Given the description of an element on the screen output the (x, y) to click on. 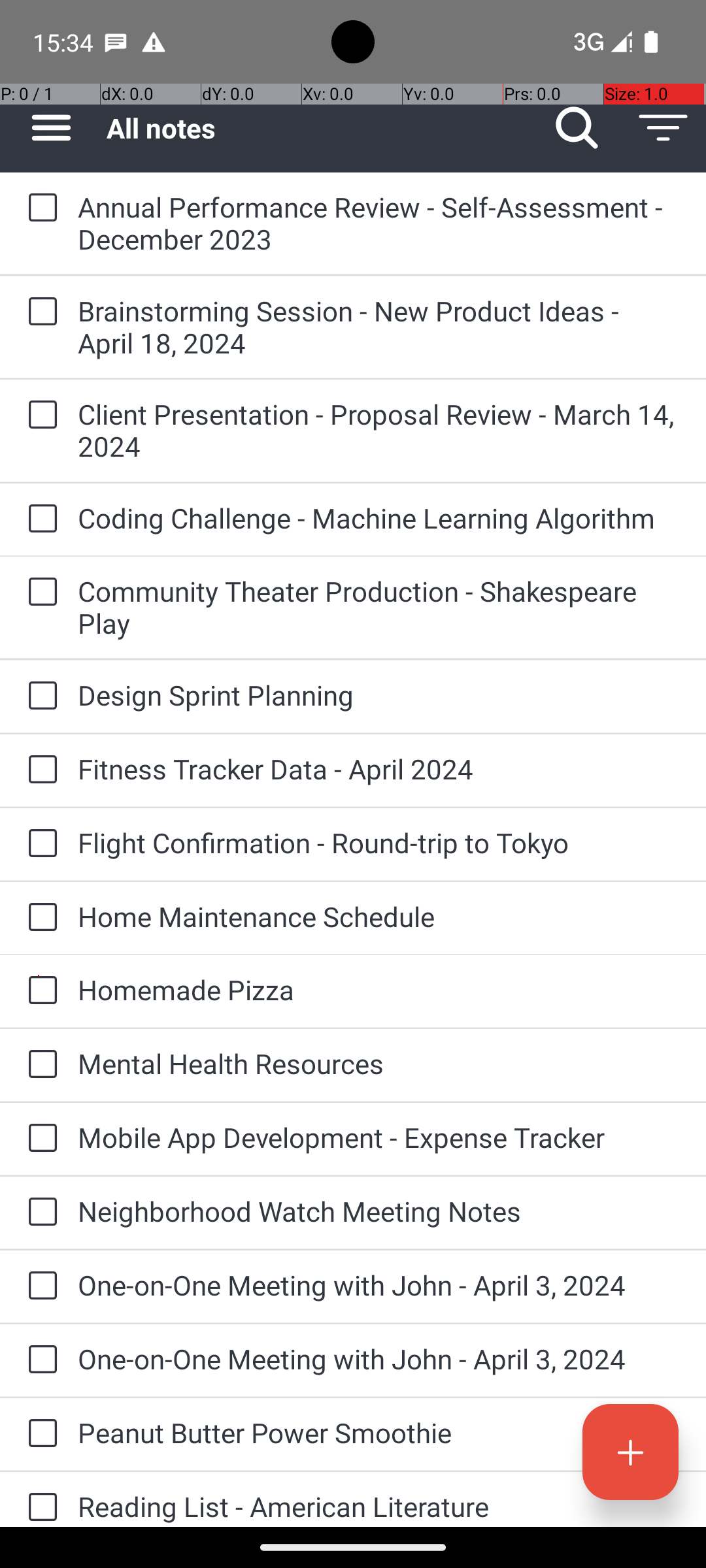
to-do: Annual Performance Review - Self-Assessment - December 2023 Element type: android.widget.CheckBox (38, 208)
Annual Performance Review - Self-Assessment - December 2023 Element type: android.widget.TextView (378, 222)
to-do: Brainstorming Session - New Product Ideas - April 18, 2024 Element type: android.widget.CheckBox (38, 312)
Brainstorming Session - New Product Ideas - April 18, 2024 Element type: android.widget.TextView (378, 326)
to-do: Client Presentation - Proposal Review - March 14, 2024 Element type: android.widget.CheckBox (38, 415)
Client Presentation - Proposal Review - March 14, 2024 Element type: android.widget.TextView (378, 429)
to-do: Coding Challenge - Machine Learning Algorithm Element type: android.widget.CheckBox (38, 519)
Coding Challenge - Machine Learning Algorithm Element type: android.widget.TextView (378, 517)
to-do: Community Theater Production - Shakespeare Play Element type: android.widget.CheckBox (38, 592)
Community Theater Production - Shakespeare Play Element type: android.widget.TextView (378, 606)
to-do: Design Sprint Planning Element type: android.widget.CheckBox (38, 696)
Design Sprint Planning Element type: android.widget.TextView (378, 694)
to-do: Fitness Tracker Data - April 2024 Element type: android.widget.CheckBox (38, 770)
Fitness Tracker Data - April 2024 Element type: android.widget.TextView (378, 768)
to-do: Flight Confirmation - Round-trip to Tokyo Element type: android.widget.CheckBox (38, 844)
Flight Confirmation - Round-trip to Tokyo Element type: android.widget.TextView (378, 842)
to-do: Home Maintenance Schedule Element type: android.widget.CheckBox (38, 917)
Home Maintenance Schedule Element type: android.widget.TextView (378, 915)
to-do: Homemade Pizza Element type: android.widget.CheckBox (38, 991)
Homemade Pizza Element type: android.widget.TextView (378, 989)
to-do: Mental Health Resources Element type: android.widget.CheckBox (38, 1065)
Mental Health Resources Element type: android.widget.TextView (378, 1062)
to-do: Mobile App Development - Expense Tracker Element type: android.widget.CheckBox (38, 1138)
Mobile App Development - Expense Tracker Element type: android.widget.TextView (378, 1136)
to-do: Neighborhood Watch Meeting Notes Element type: android.widget.CheckBox (38, 1212)
Neighborhood Watch Meeting Notes Element type: android.widget.TextView (378, 1210)
to-do: One-on-One Meeting with John - April 3, 2024 Element type: android.widget.CheckBox (38, 1286)
One-on-One Meeting with John - April 3, 2024 Element type: android.widget.TextView (378, 1284)
to-do: Peanut Butter Power Smoothie Element type: android.widget.CheckBox (38, 1434)
Peanut Butter Power Smoothie Element type: android.widget.TextView (378, 1432)
to-do: Reading List - American Literature Element type: android.widget.CheckBox (38, 1498)
Reading List - American Literature Element type: android.widget.TextView (378, 1505)
